Given the description of an element on the screen output the (x, y) to click on. 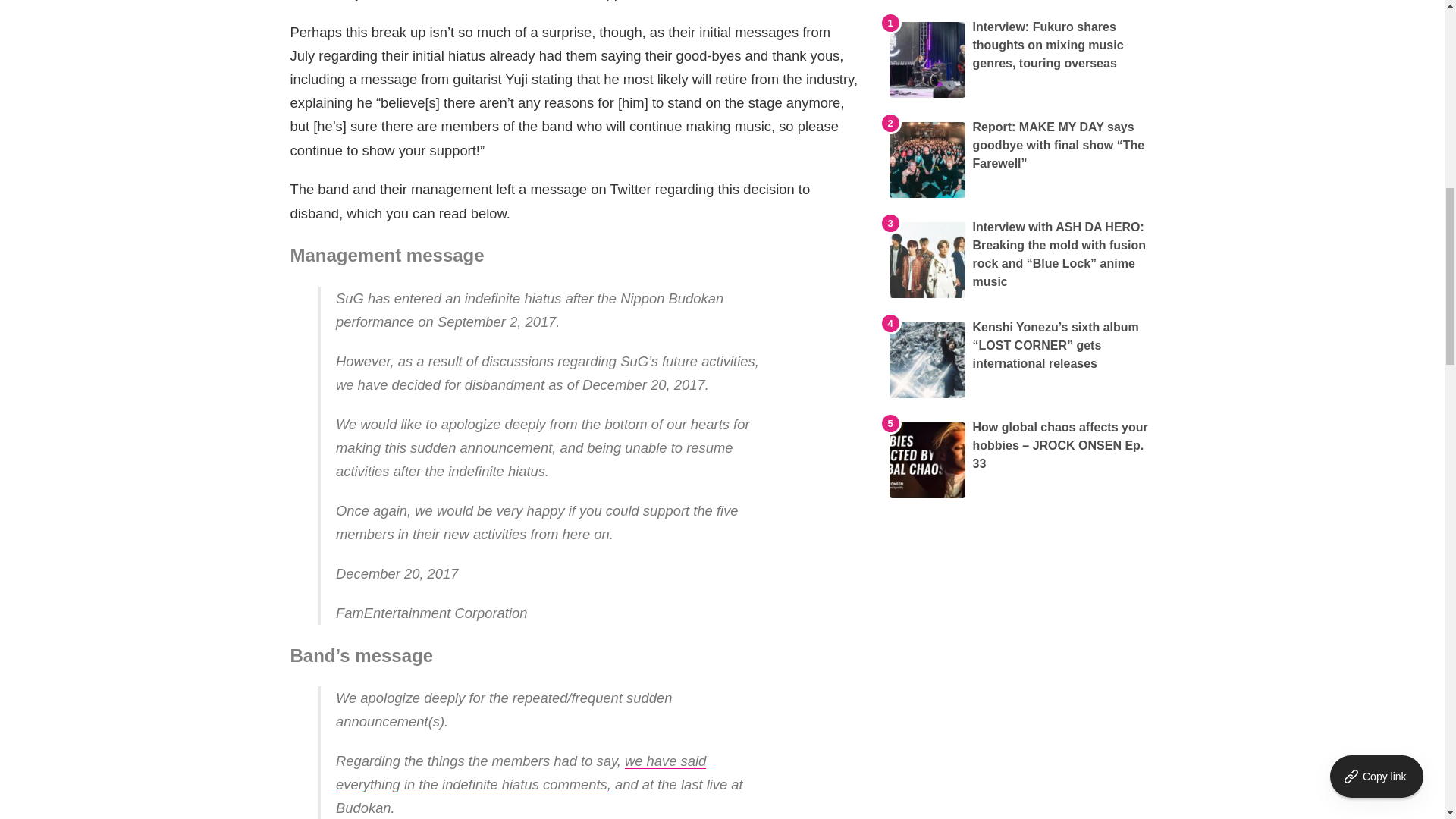
we have said everything in the indefinite hiatus comments, (521, 772)
